Given the description of an element on the screen output the (x, y) to click on. 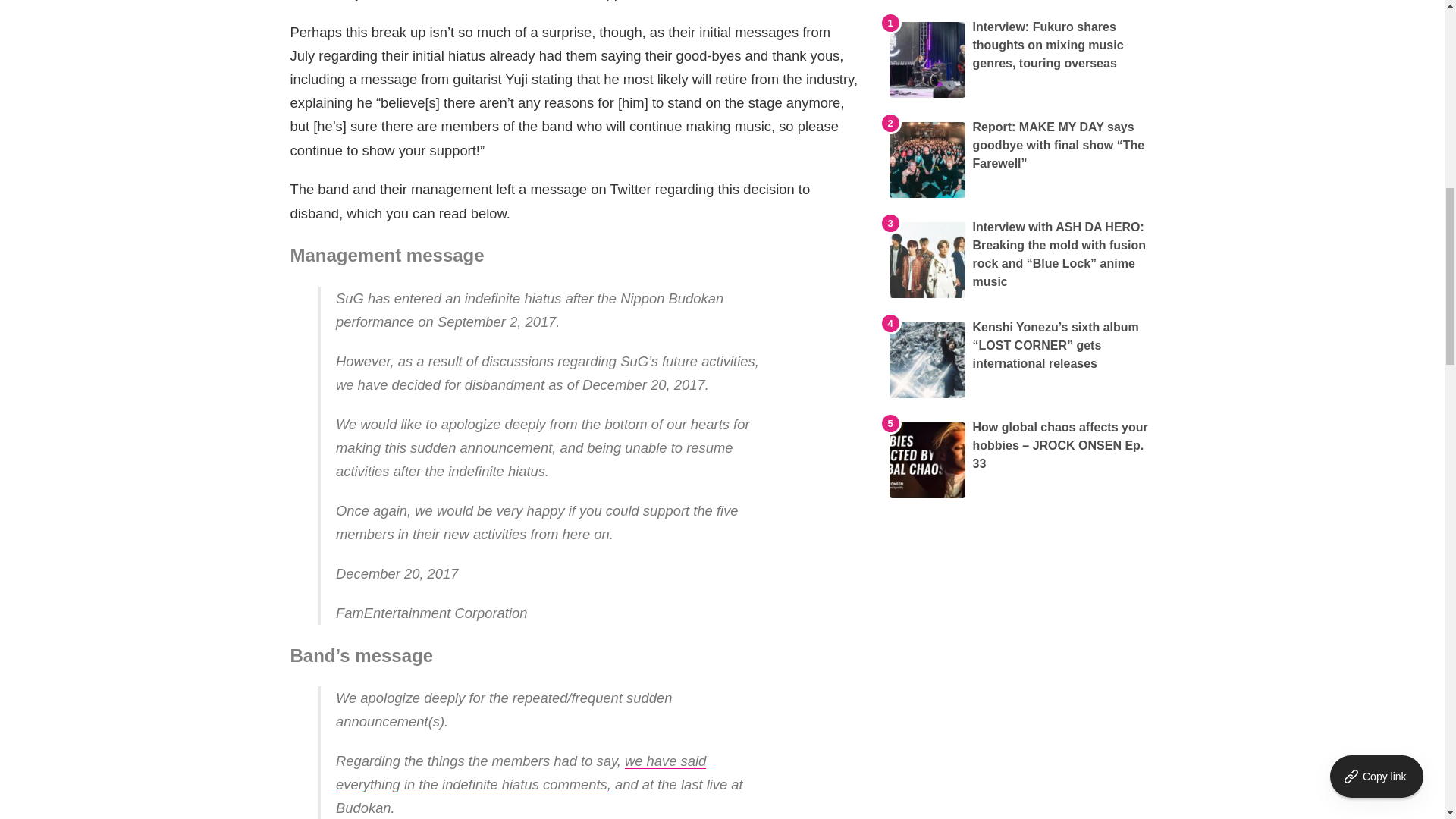
we have said everything in the indefinite hiatus comments, (521, 772)
